Given the description of an element on the screen output the (x, y) to click on. 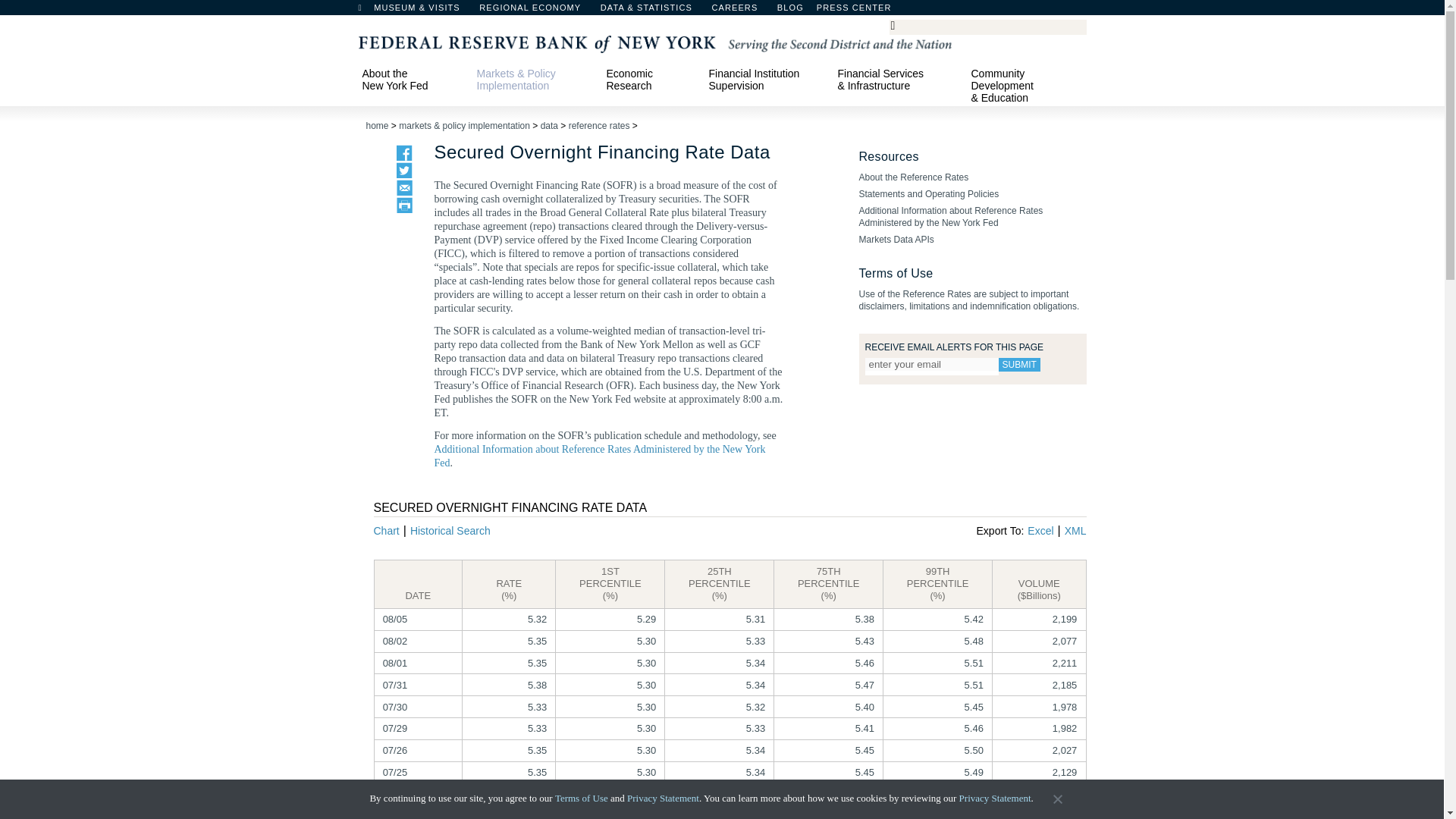
Federal Reserve Bank of New York (654, 42)
Home (367, 11)
Search Box (985, 26)
Press Center (861, 11)
Search Button (897, 24)
About the New York Fed (411, 79)
Search Form (987, 27)
Submit (1018, 364)
Careers (742, 11)
Historical Search (450, 530)
About the New York Fed (411, 79)
PRESS CENTER (861, 11)
BLOG (830, 11)
Liberty Street Economics Blog (830, 11)
CAREERS (742, 11)
